Given the description of an element on the screen output the (x, y) to click on. 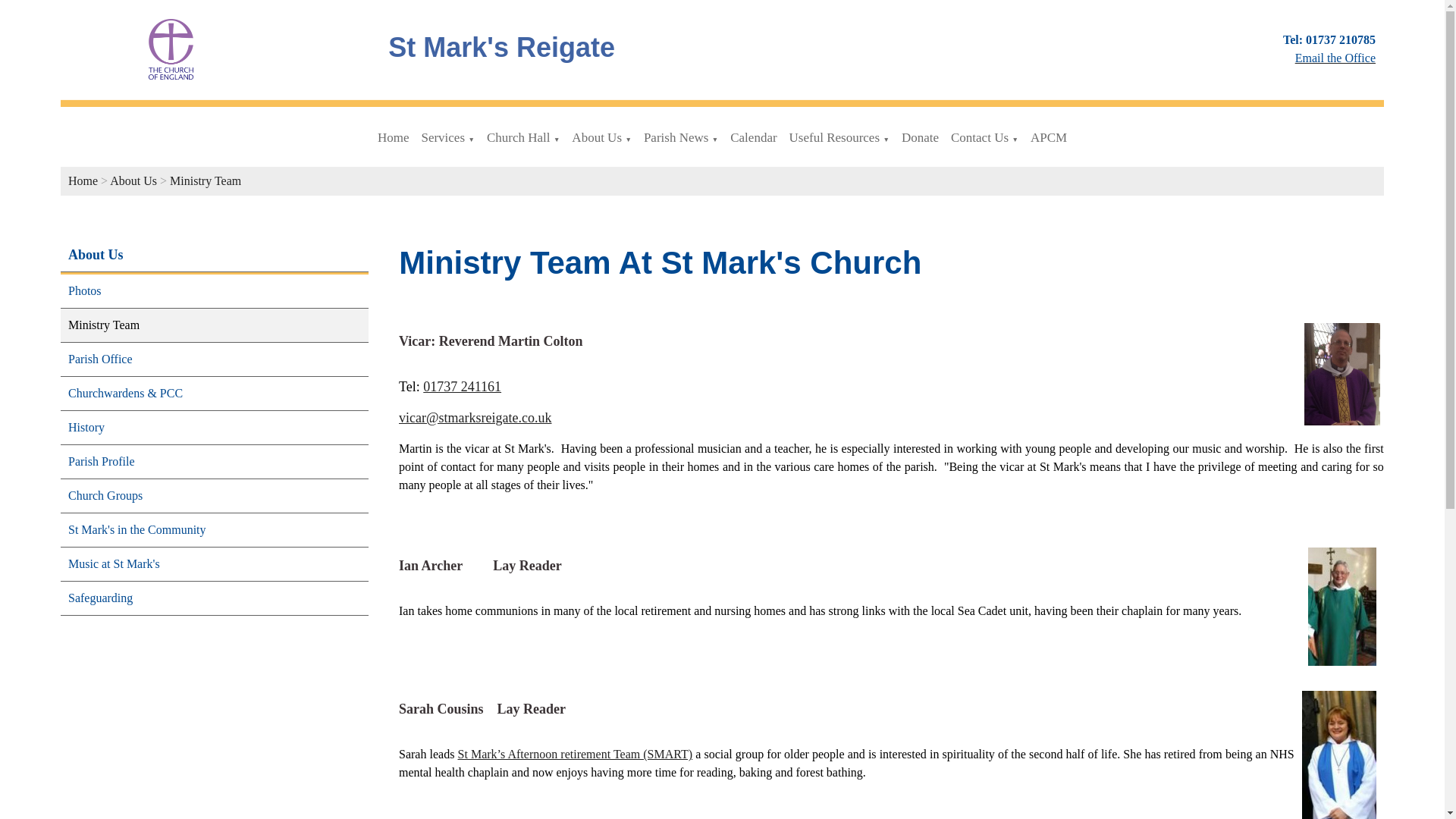
Email the Office (1335, 57)
